Given the description of an element on the screen output the (x, y) to click on. 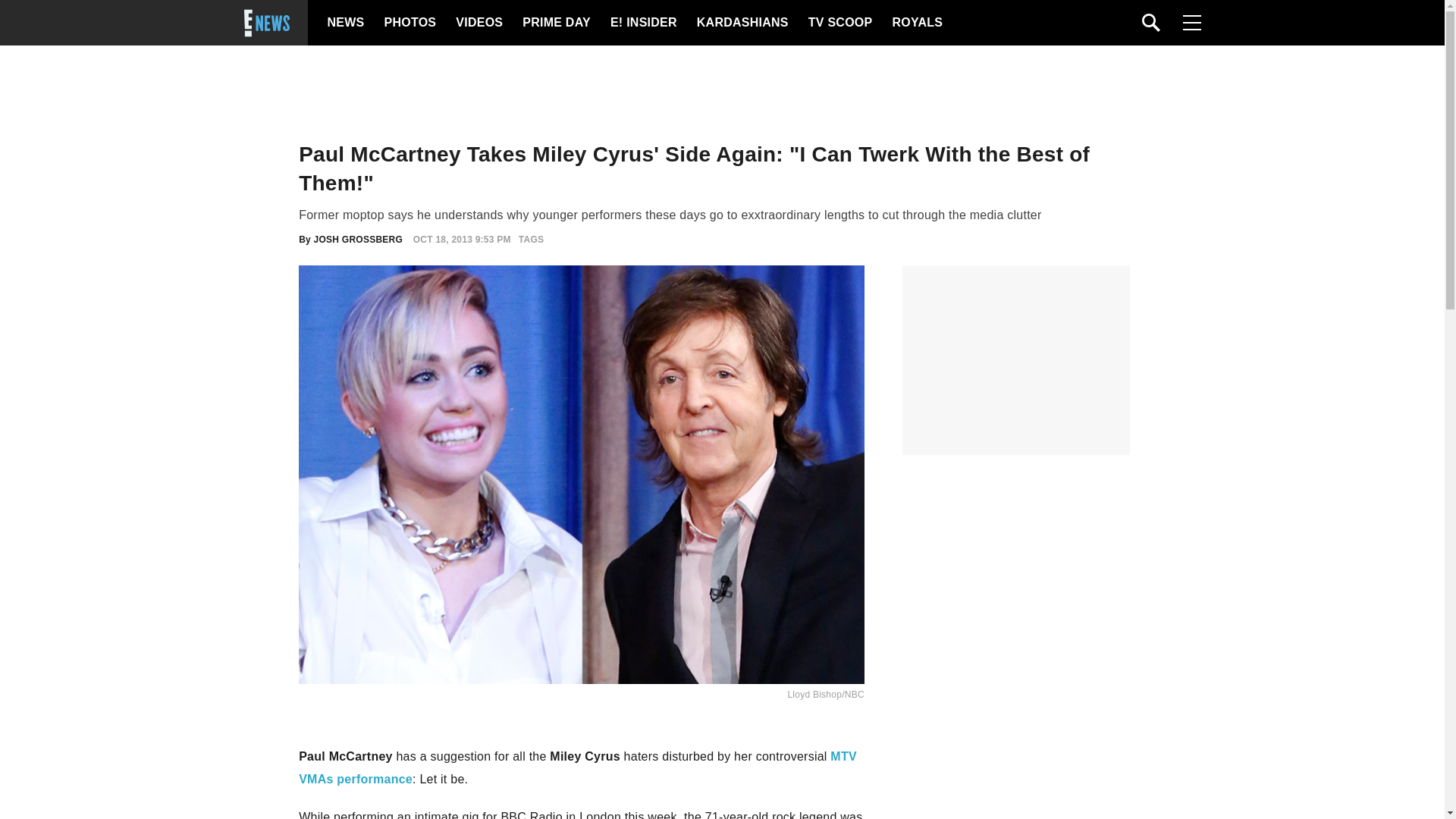
ROYALS (915, 22)
PHOTOS (408, 22)
JOSH GROSSBERG (358, 239)
VIDEOS (478, 22)
PRIME DAY (556, 22)
NEWS (345, 22)
MTV VMAs performance (577, 767)
E! INSIDER (642, 22)
TV SCOOP (839, 22)
KARDASHIANS (742, 22)
